Given the description of an element on the screen output the (x, y) to click on. 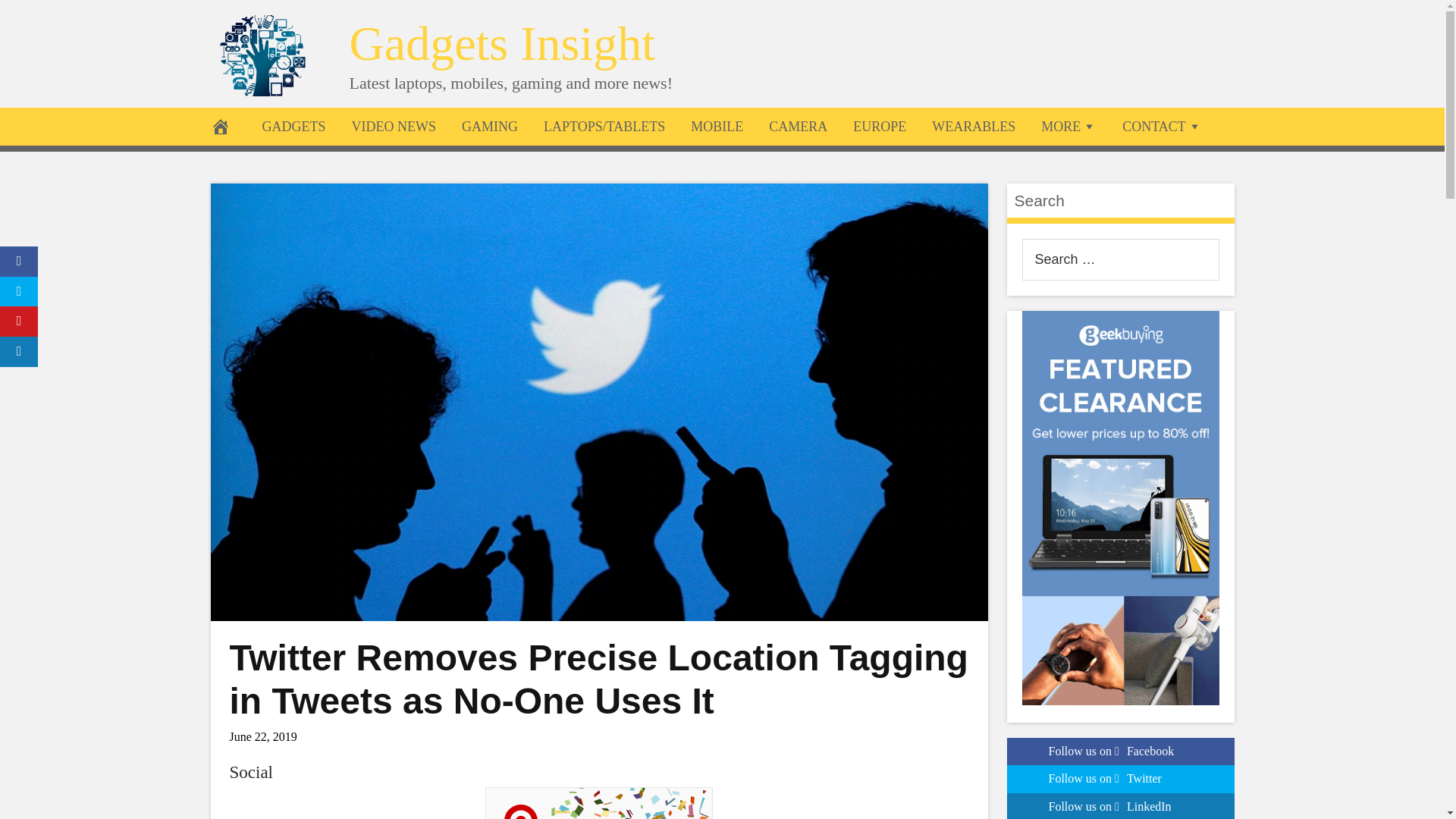
WEARABLES (972, 126)
CAMERA (797, 126)
Social (250, 772)
GADGETS (292, 126)
Gadgets Insight (502, 43)
VIDEO NEWS (392, 126)
MOBILE (716, 126)
GAMING (489, 126)
EUROPE (879, 126)
MORE (1068, 126)
